Given the description of an element on the screen output the (x, y) to click on. 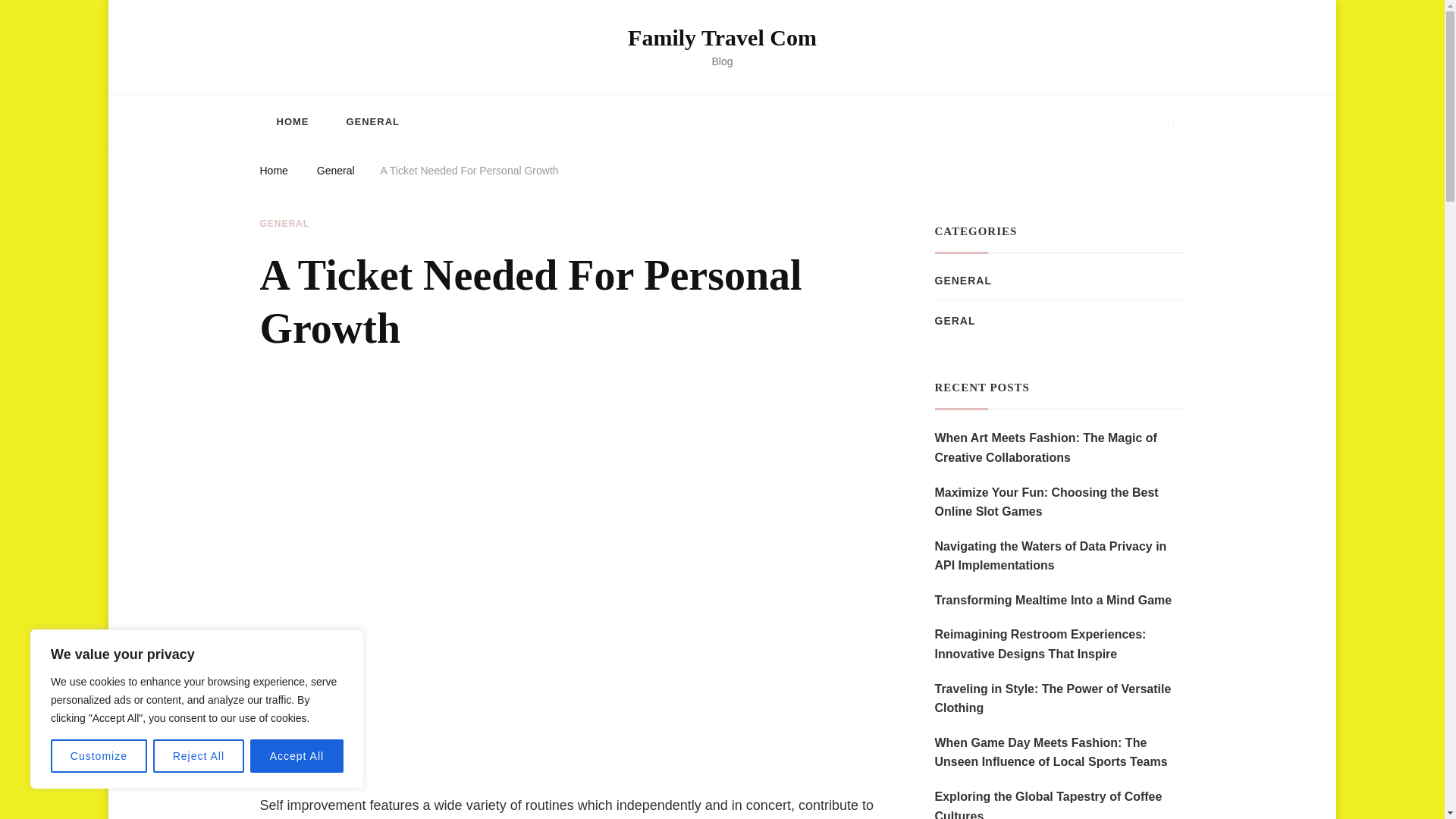
HOME (291, 121)
General (336, 172)
A Ticket Needed For Personal Growth (469, 172)
Accept All (296, 756)
GENERAL (283, 223)
Reject All (198, 756)
Home (272, 172)
Family Travel Com (721, 37)
GENERAL (371, 121)
Customize (98, 756)
